Given the description of an element on the screen output the (x, y) to click on. 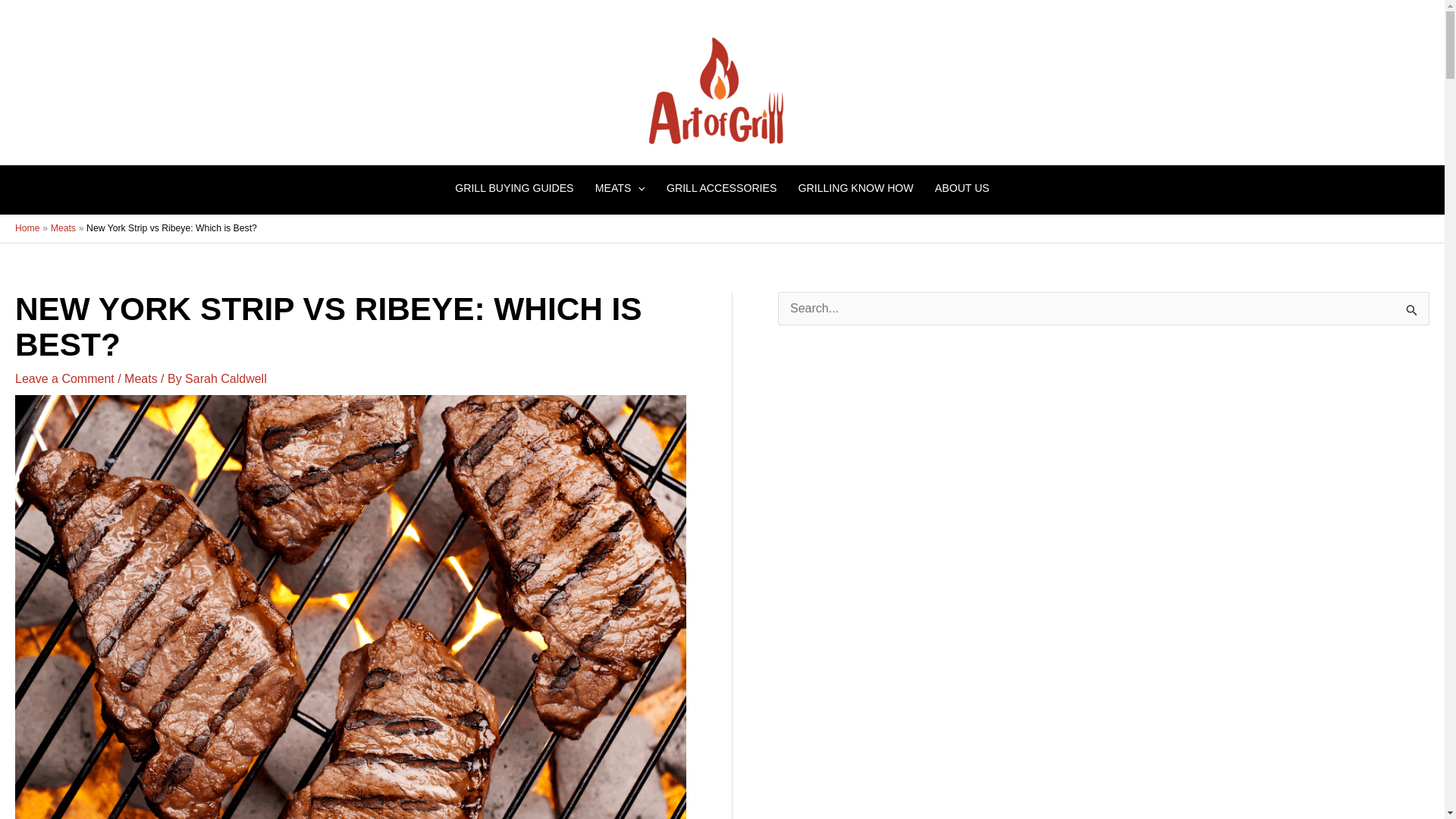
ABOUT US (962, 187)
View all posts by Sarah Caldwell (225, 378)
GRILL BUYING GUIDES (514, 187)
Sarah Caldwell (225, 378)
Meats (140, 378)
GRILLING KNOW HOW (855, 187)
GRILL ACCESSORIES (721, 187)
Meats (62, 227)
Home (27, 227)
MEATS (620, 187)
